Given the description of an element on the screen output the (x, y) to click on. 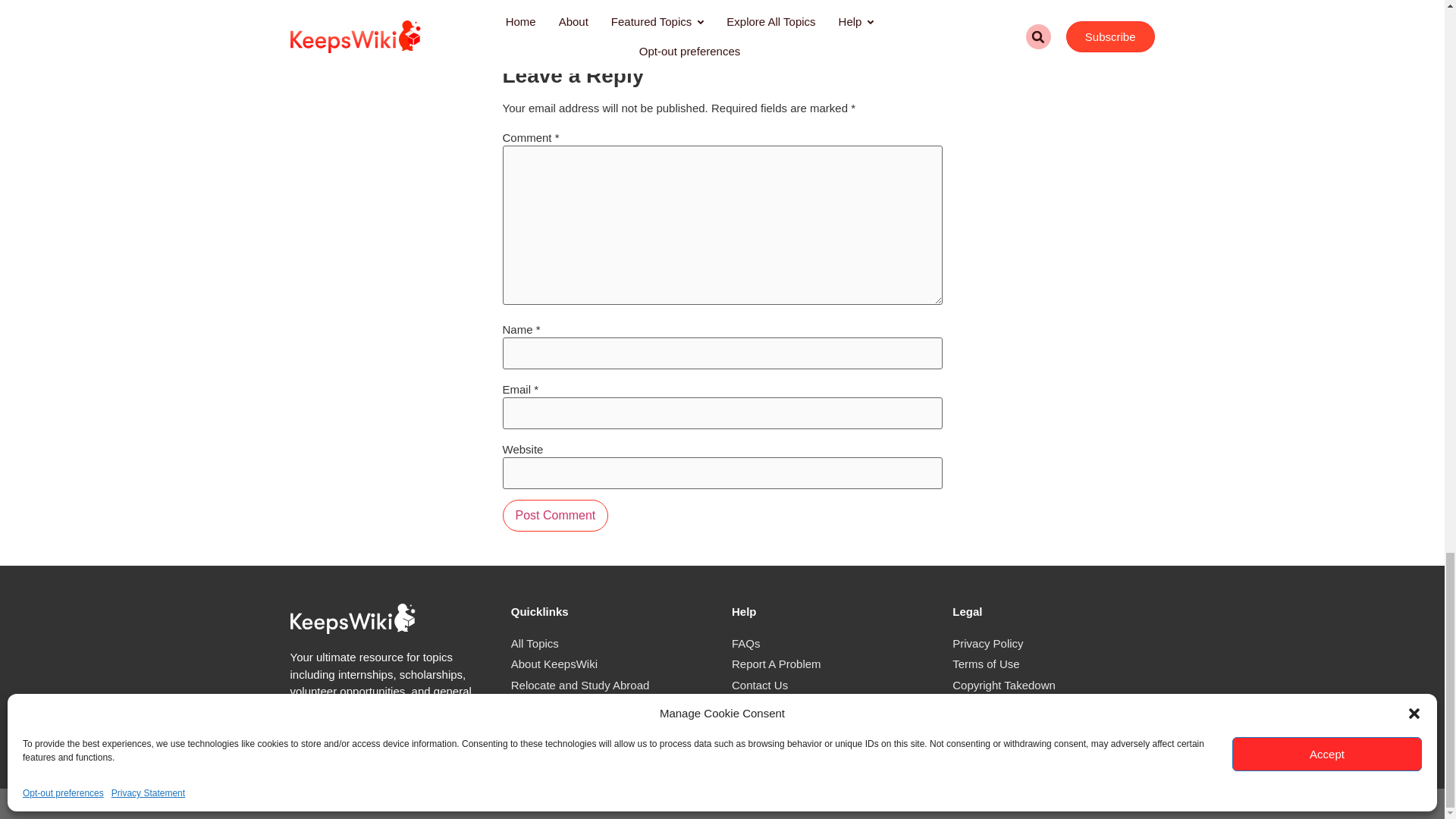
Post Comment (555, 515)
